Given the description of an element on the screen output the (x, y) to click on. 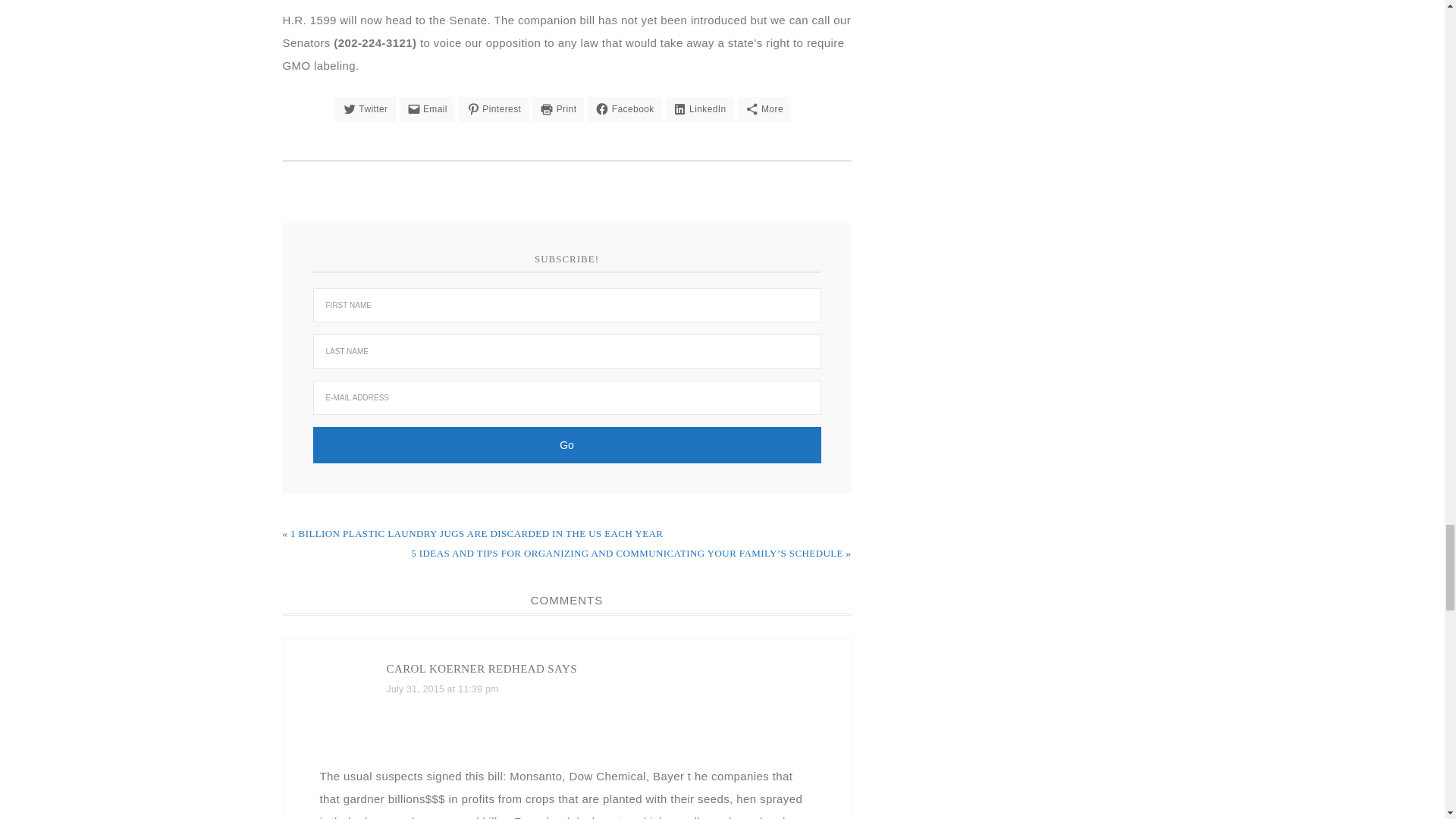
Click to email this to a friend (426, 109)
Click to share on LinkedIn (699, 109)
Click to share on Pinterest (493, 109)
Go (567, 444)
Click to share on Twitter (365, 109)
Click to print (557, 109)
Twitter (365, 109)
Email (426, 109)
Facebook (624, 109)
Click to share on Facebook (624, 109)
LinkedIn (699, 109)
Go (567, 444)
Pinterest (493, 109)
More (764, 109)
July 31, 2015 at 11:39 pm (443, 688)
